Given the description of an element on the screen output the (x, y) to click on. 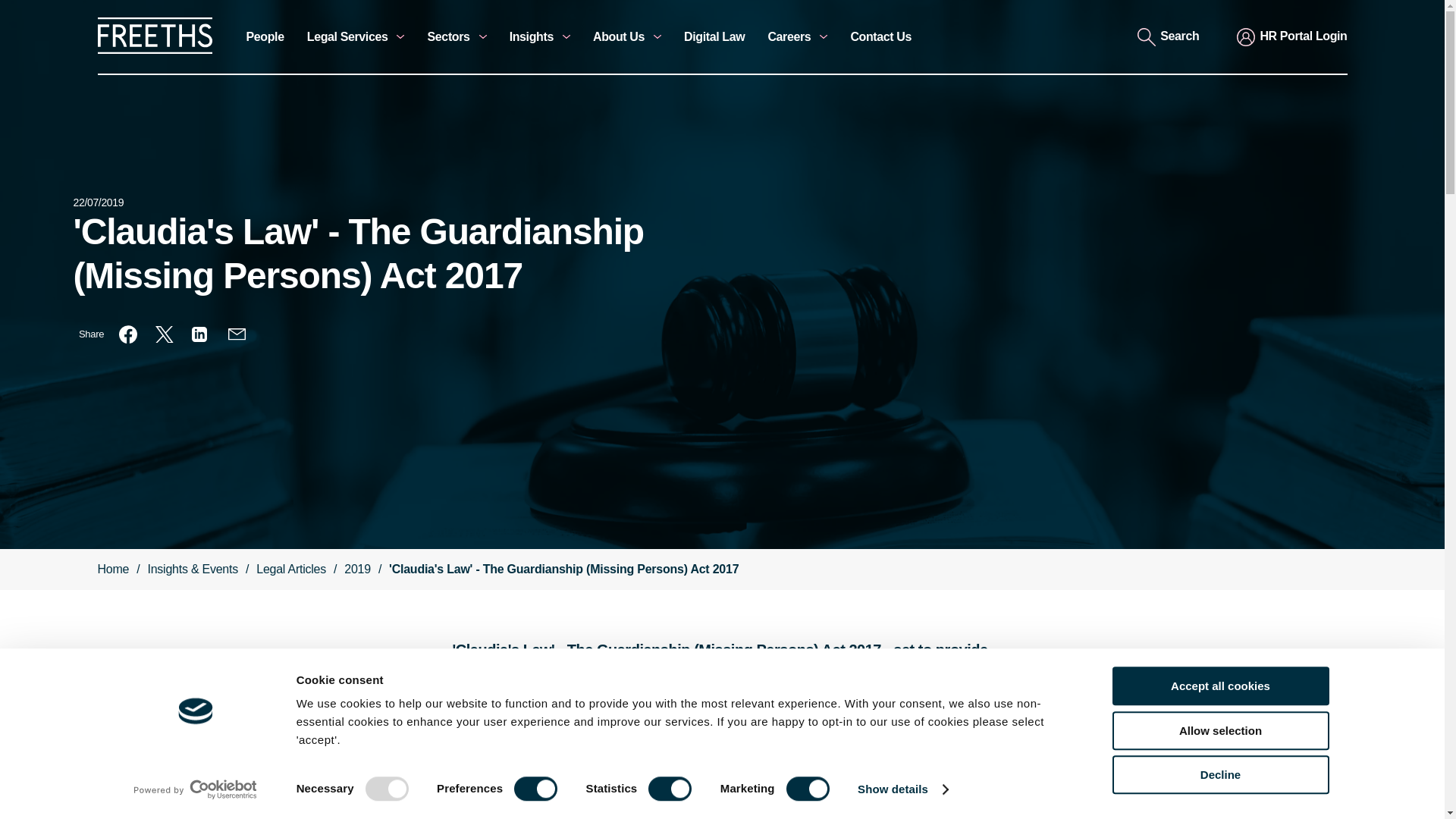
Share via X (163, 334)
Go to homepage (154, 49)
Show details (902, 789)
Share via email (236, 334)
Accept all cookies (1219, 685)
Decline (1219, 774)
Share via LinkedIn (200, 334)
Share (90, 334)
Share via Facebook (127, 334)
Allow selection (1219, 730)
